Given the description of an element on the screen output the (x, y) to click on. 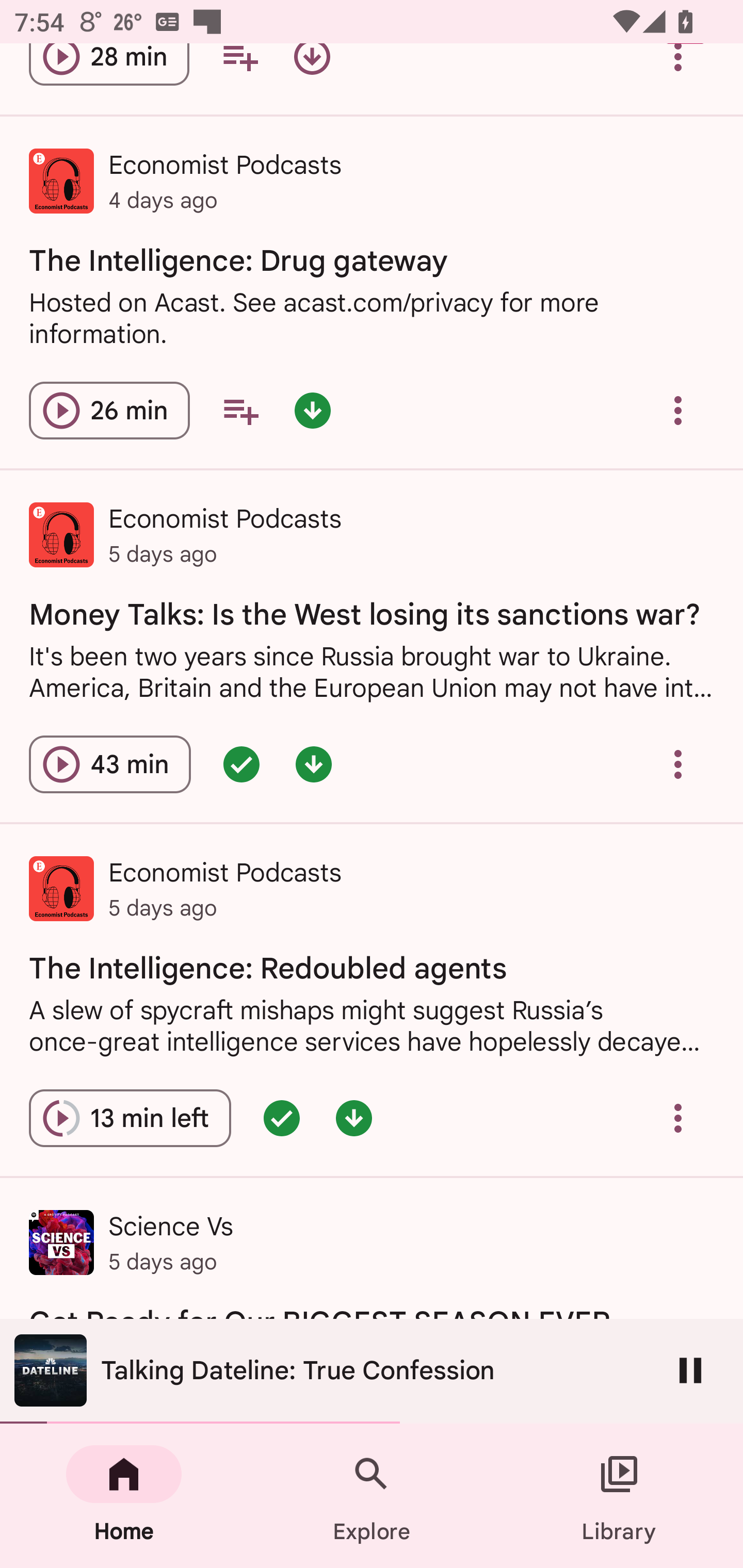
Add to your queue (239, 71)
Download episode (312, 71)
Overflow menu (677, 71)
Play episode The Intelligence: Drug gateway 26 min (109, 409)
Add to your queue (240, 409)
Episode downloaded - double tap for options (312, 409)
Overflow menu (677, 409)
Episode queued - double tap for options (241, 764)
Episode downloaded - double tap for options (313, 764)
Overflow menu (677, 764)
Episode queued - double tap for options (281, 1118)
Episode downloaded - double tap for options (354, 1118)
Overflow menu (677, 1118)
Pause (690, 1370)
Explore (371, 1495)
Library (619, 1495)
